Given the description of an element on the screen output the (x, y) to click on. 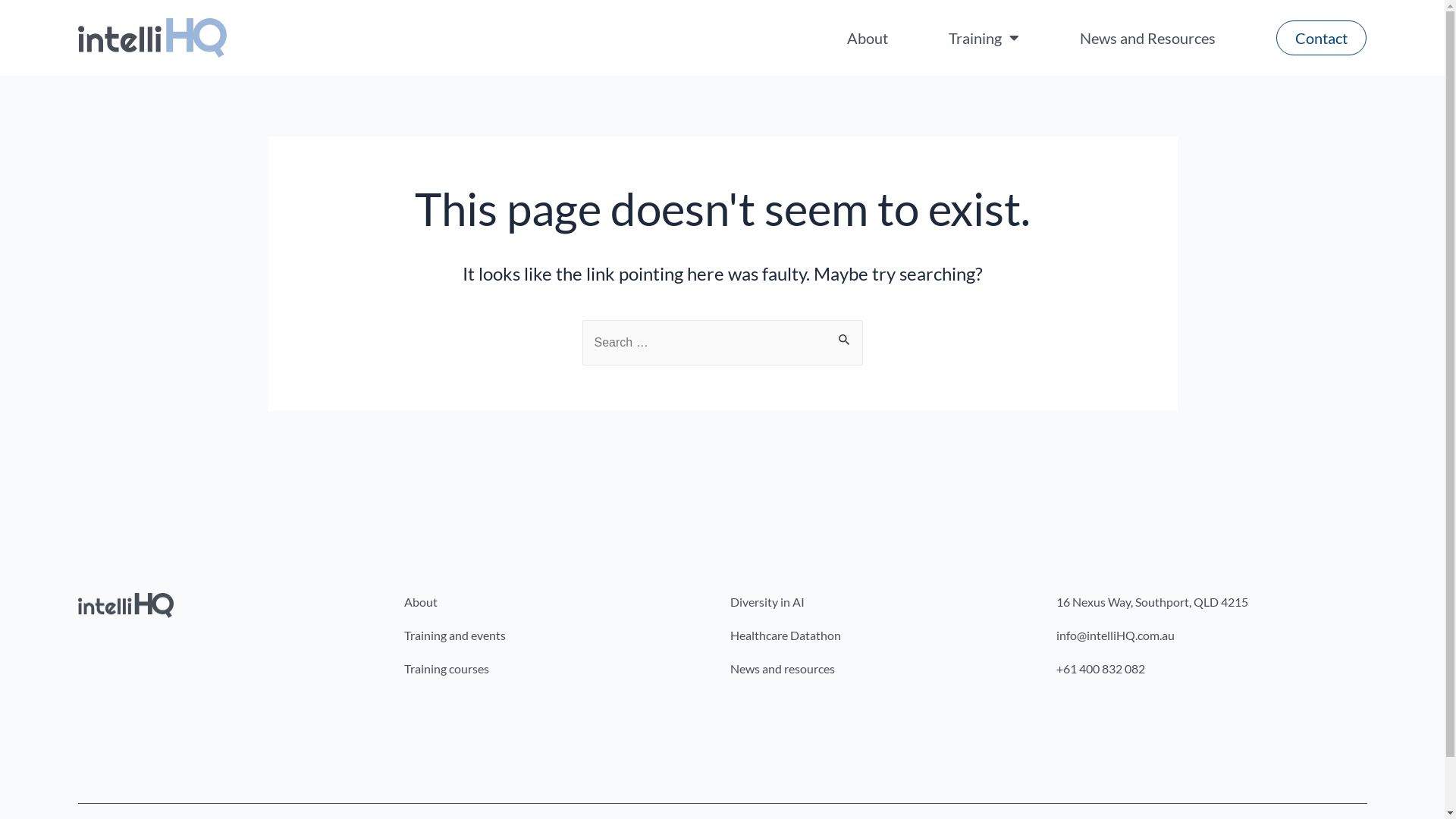
Training Element type: text (983, 37)
News and Resources Element type: text (1147, 37)
Search Element type: text (845, 335)
Diversity in AI Element type: text (884, 602)
Healthcare Datathon Element type: text (884, 635)
About Element type: text (867, 37)
+61 400 832 082 Element type: text (1210, 668)
Training and events Element type: text (558, 635)
Training courses Element type: text (558, 668)
Contact Element type: text (1321, 37)
16 Nexus Way, Southport, QLD 4215 Element type: text (1210, 602)
News and resources Element type: text (884, 668)
info@intelliHQ.com.au Element type: text (1210, 635)
About Element type: text (558, 602)
